Given the description of an element on the screen output the (x, y) to click on. 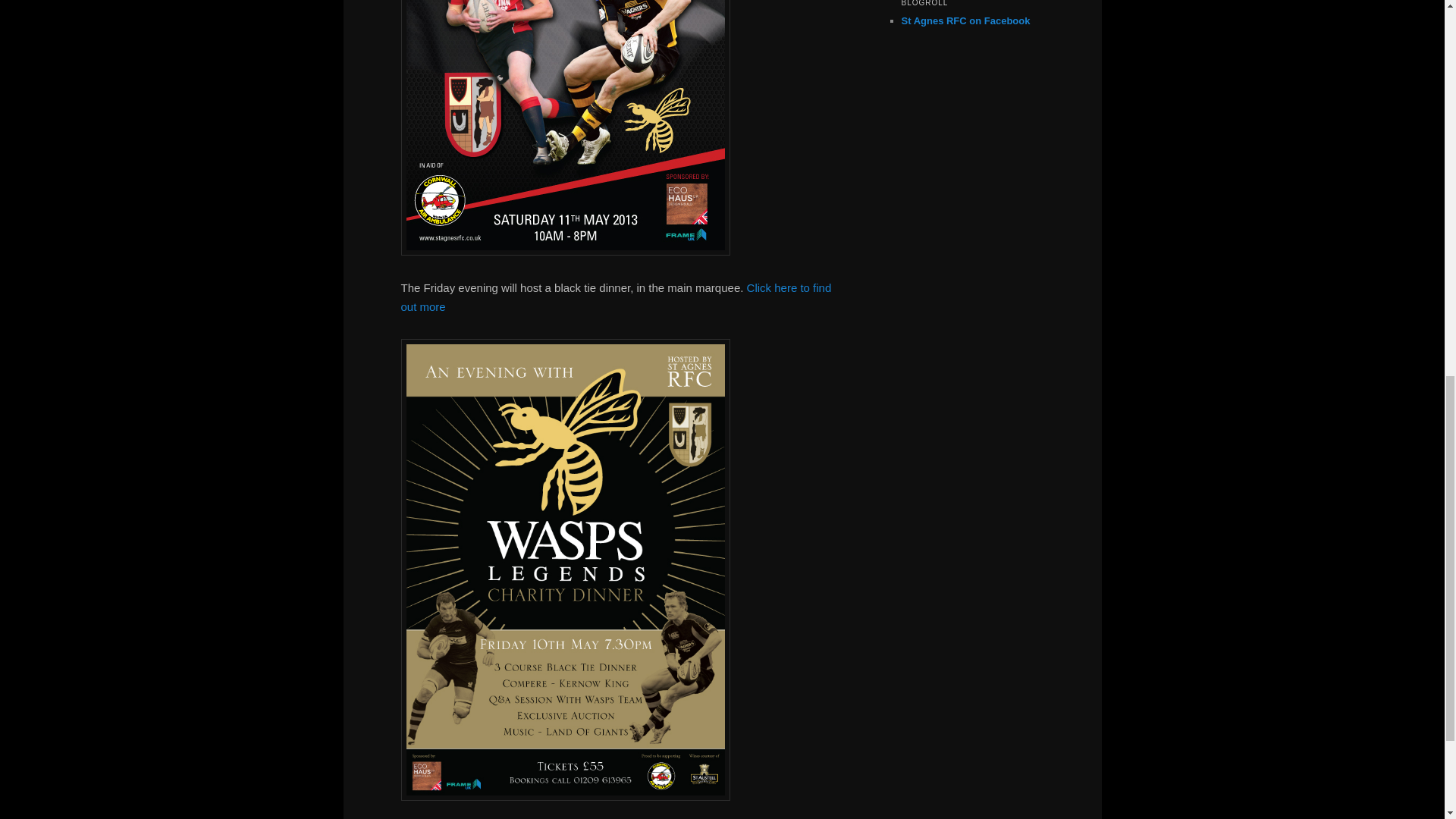
Charity Dinner (615, 296)
Charity Dinner (564, 796)
Click here to find out more (615, 296)
St Agnes RFC on Facebook (965, 20)
